Given the description of an element on the screen output the (x, y) to click on. 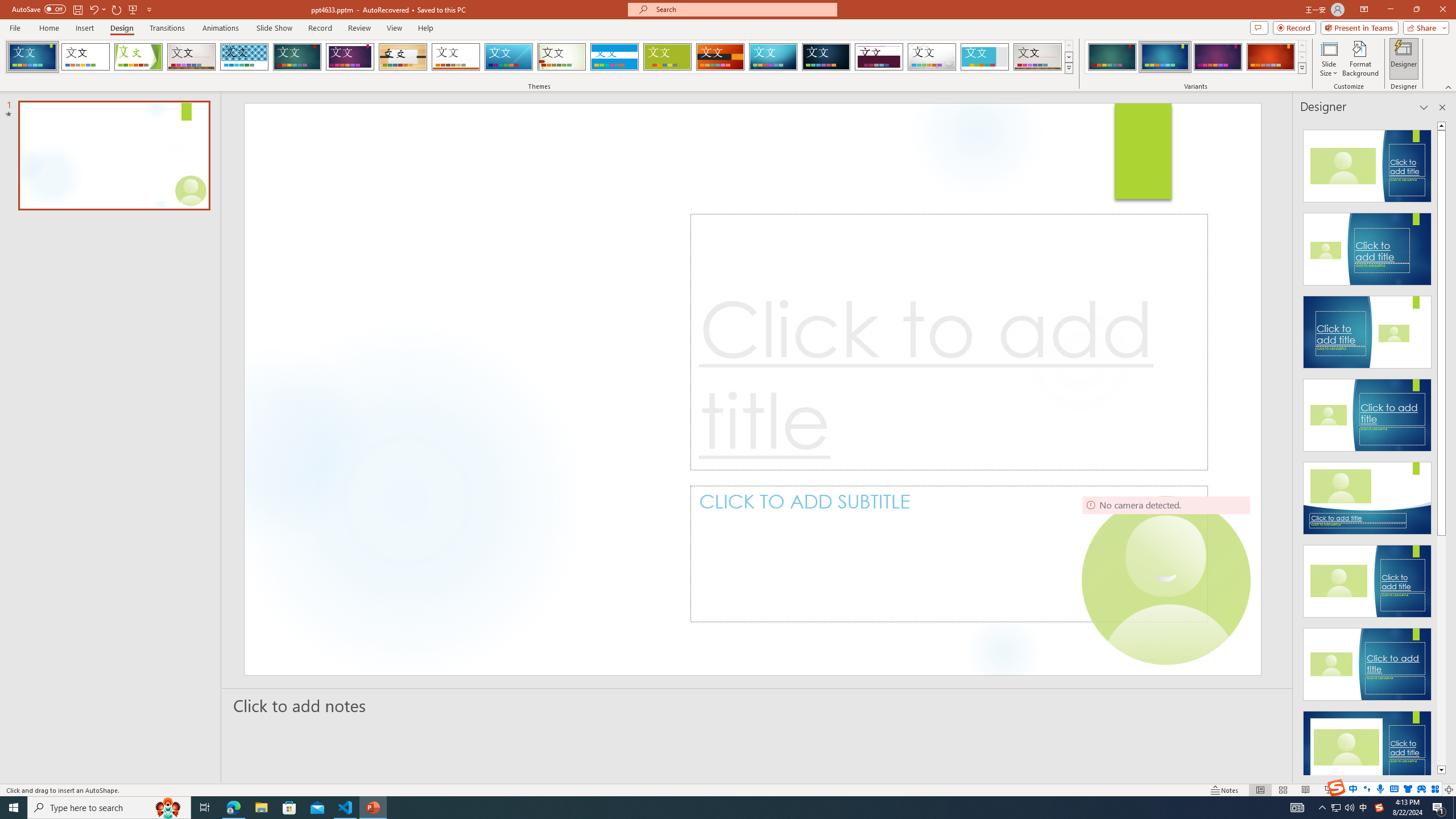
Transitions (167, 28)
Berlin Loading Preview... (720, 56)
Row Down (1301, 56)
Quick Access Toolbar (82, 9)
Task Pane Options (1423, 107)
Class: NetUIImage (1302, 68)
Designer (1403, 58)
View (395, 28)
Ion (296, 56)
Line down (1441, 770)
Redo (117, 9)
Facet (138, 56)
Row up (1301, 45)
